Given the description of an element on the screen output the (x, y) to click on. 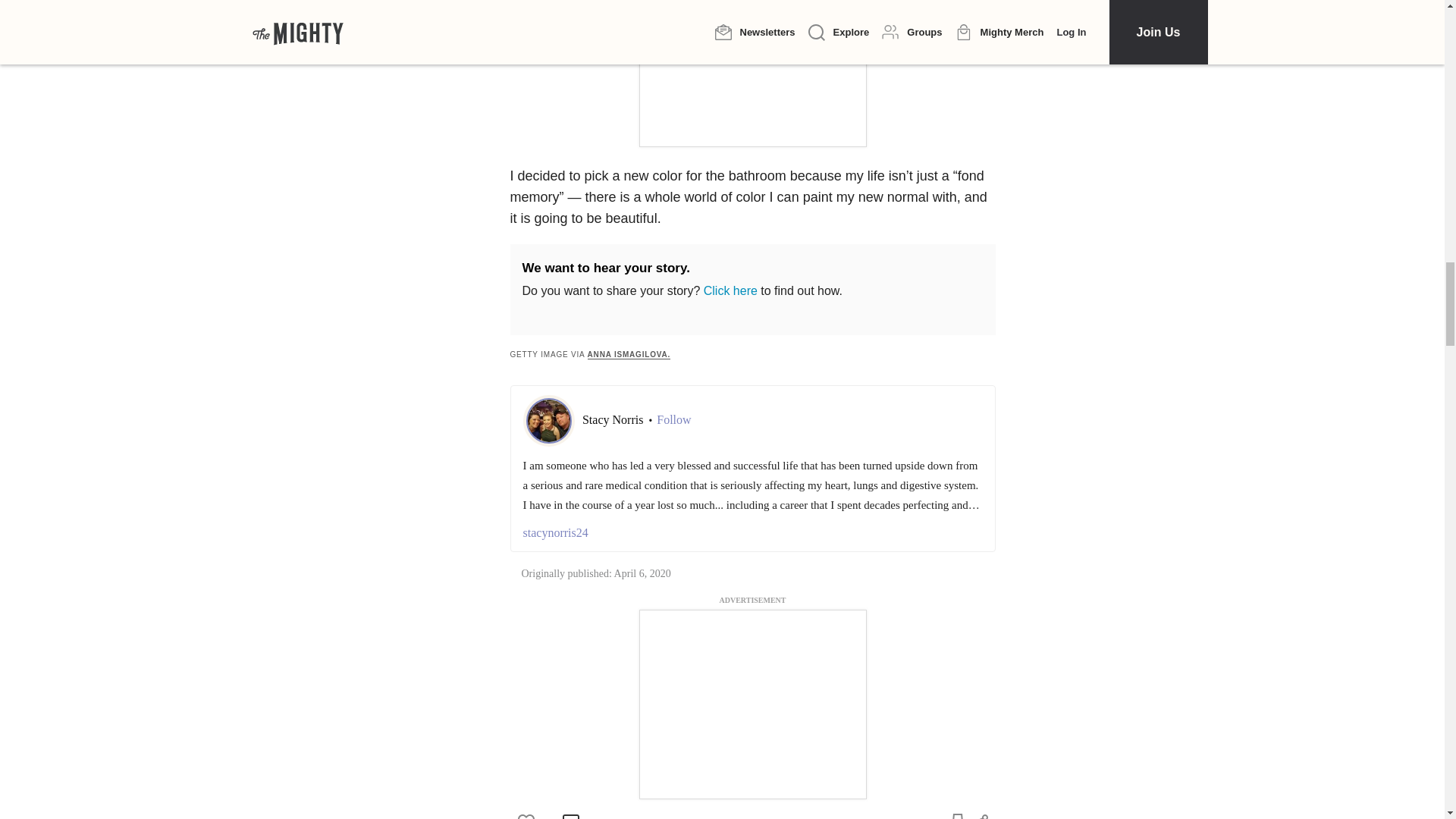
190 (535, 816)
Stacy Norris (614, 419)
stacynorris24 (752, 533)
Click here (730, 290)
ANNA ISMAGILOVA. (628, 354)
Follow (673, 419)
